Given the description of an element on the screen output the (x, y) to click on. 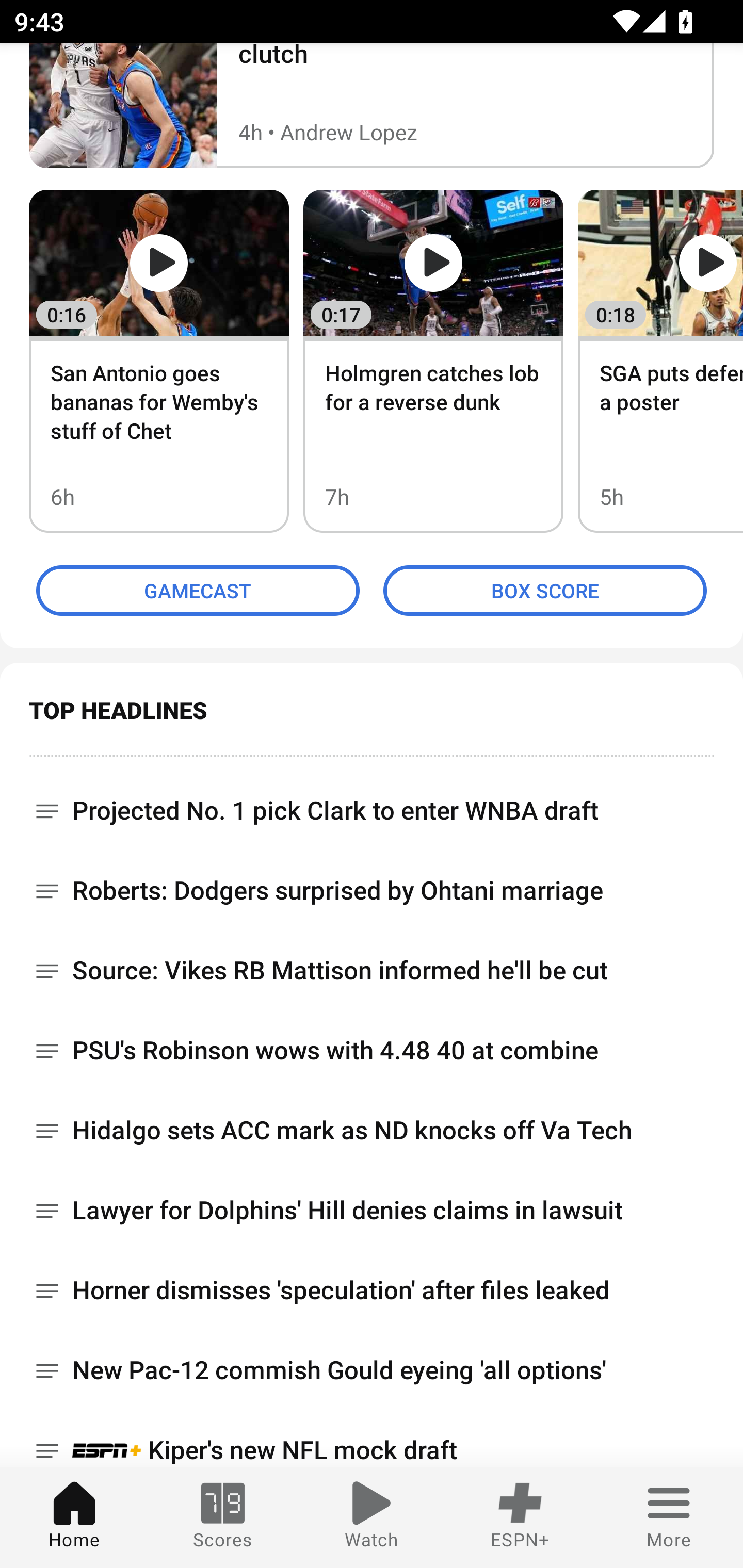
 0:17 Holmgren catches lob for a reverse dunk 7h (433, 361)
 0:18 SGA puts defender on a poster 5h (660, 361)
GAMECAST (197, 591)
BOX SCORE (544, 591)
 Projected No. 1 pick Clark to enter WNBA draft (371, 804)
 Roberts: Dodgers surprised by Ohtani marriage (371, 891)
 Source: Vikes RB Mattison informed he'll be cut (371, 971)
 PSU's Robinson wows with 4.48 40 at combine (371, 1051)
 Hidalgo sets ACC mark as ND knocks off Va Tech (371, 1131)
 New Pac-12 commish Gould eyeing 'all options' (371, 1371)
Scores (222, 1517)
Watch (371, 1517)
ESPN+ (519, 1517)
More (668, 1517)
